Given the description of an element on the screen output the (x, y) to click on. 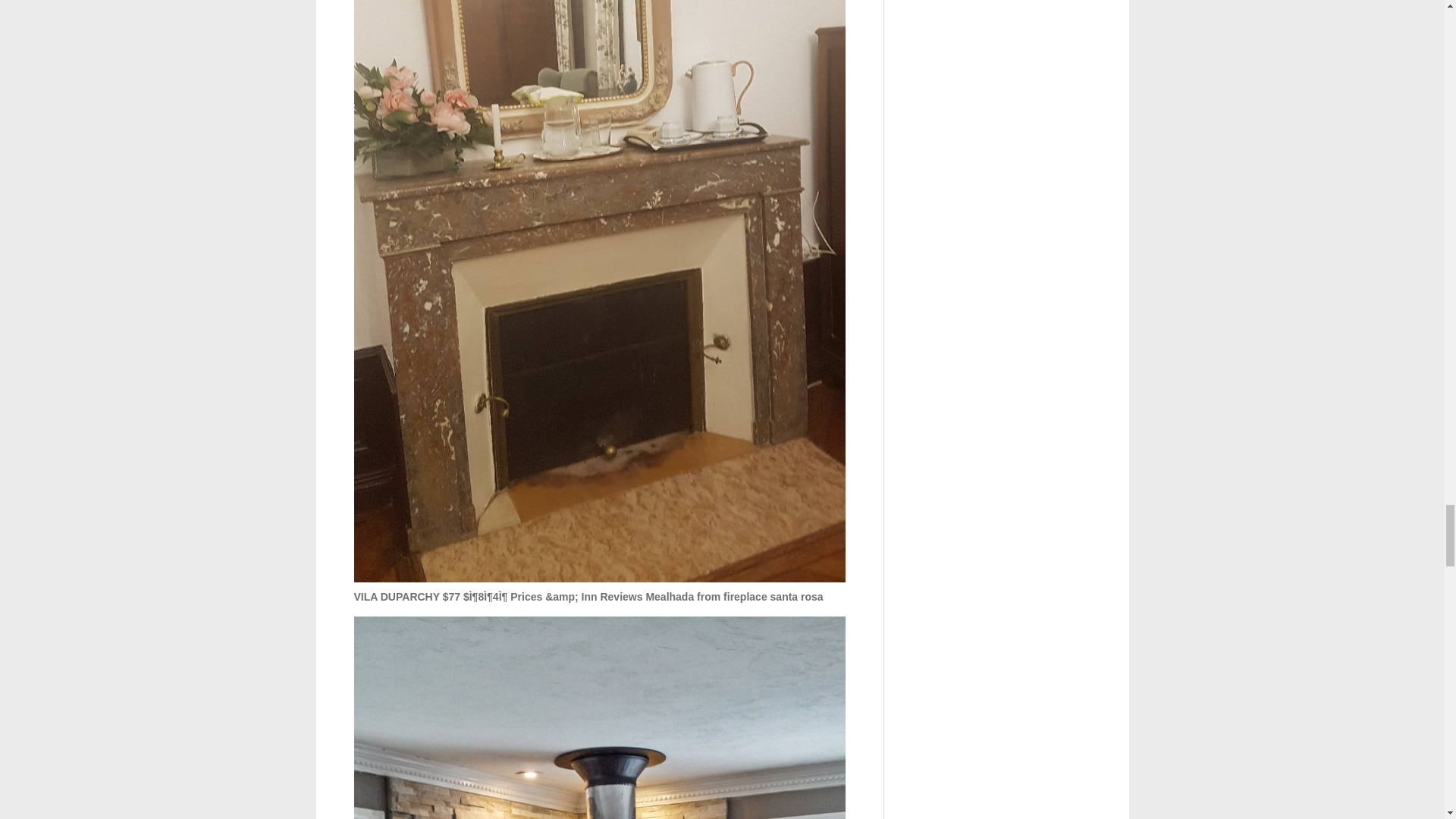
wood burning fireplaces mobile homes Charming Fireplace (598, 717)
